Given the description of an element on the screen output the (x, y) to click on. 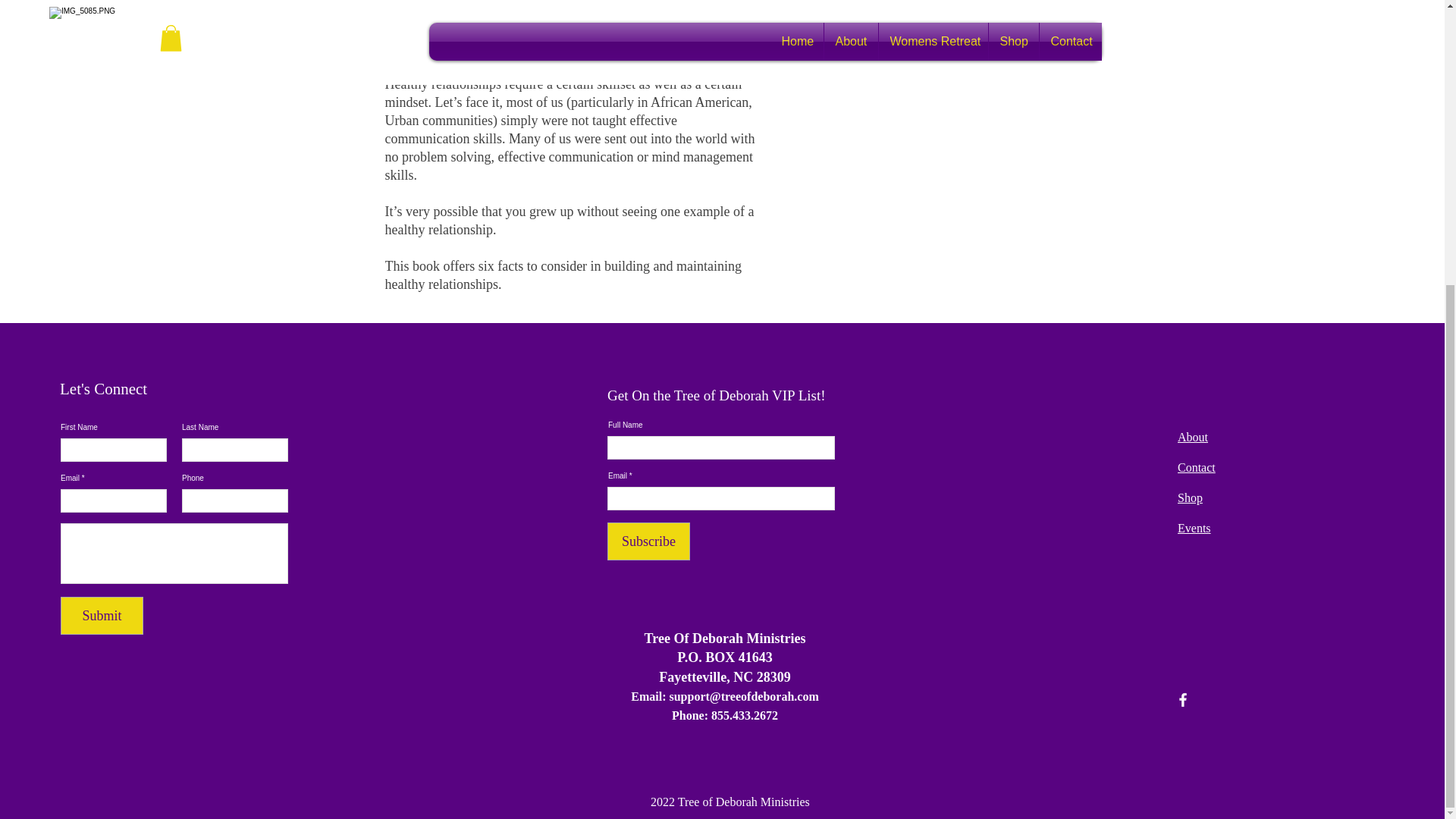
About (1192, 436)
Subscribe (648, 541)
Events (1194, 527)
Shop (1189, 497)
Submit (101, 615)
Contact (1196, 467)
